Given the description of an element on the screen output the (x, y) to click on. 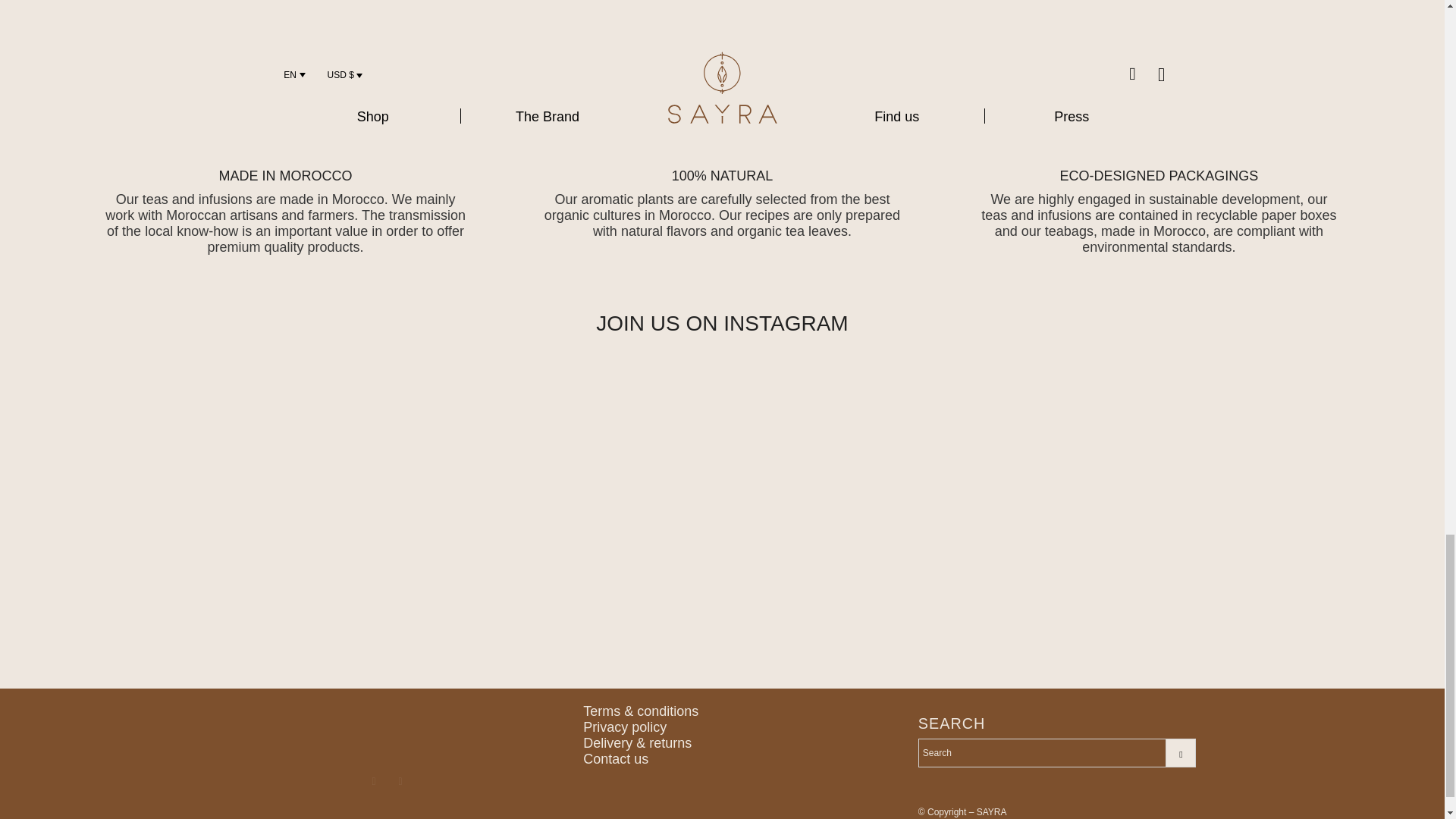
sayra-logo-white (386, 729)
